Given the description of an element on the screen output the (x, y) to click on. 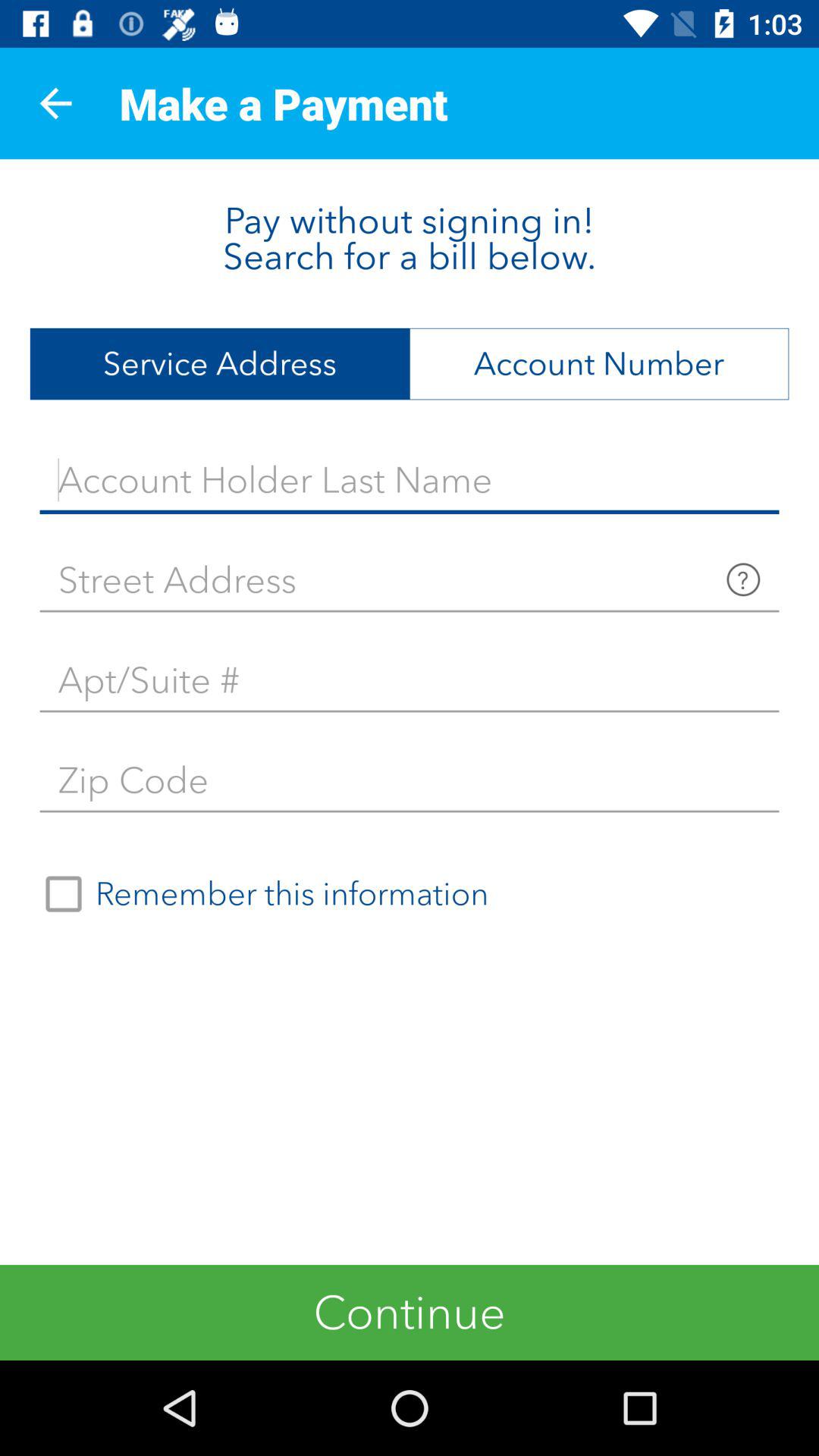
click item below the pay without signing icon (219, 363)
